Given the description of an element on the screen output the (x, y) to click on. 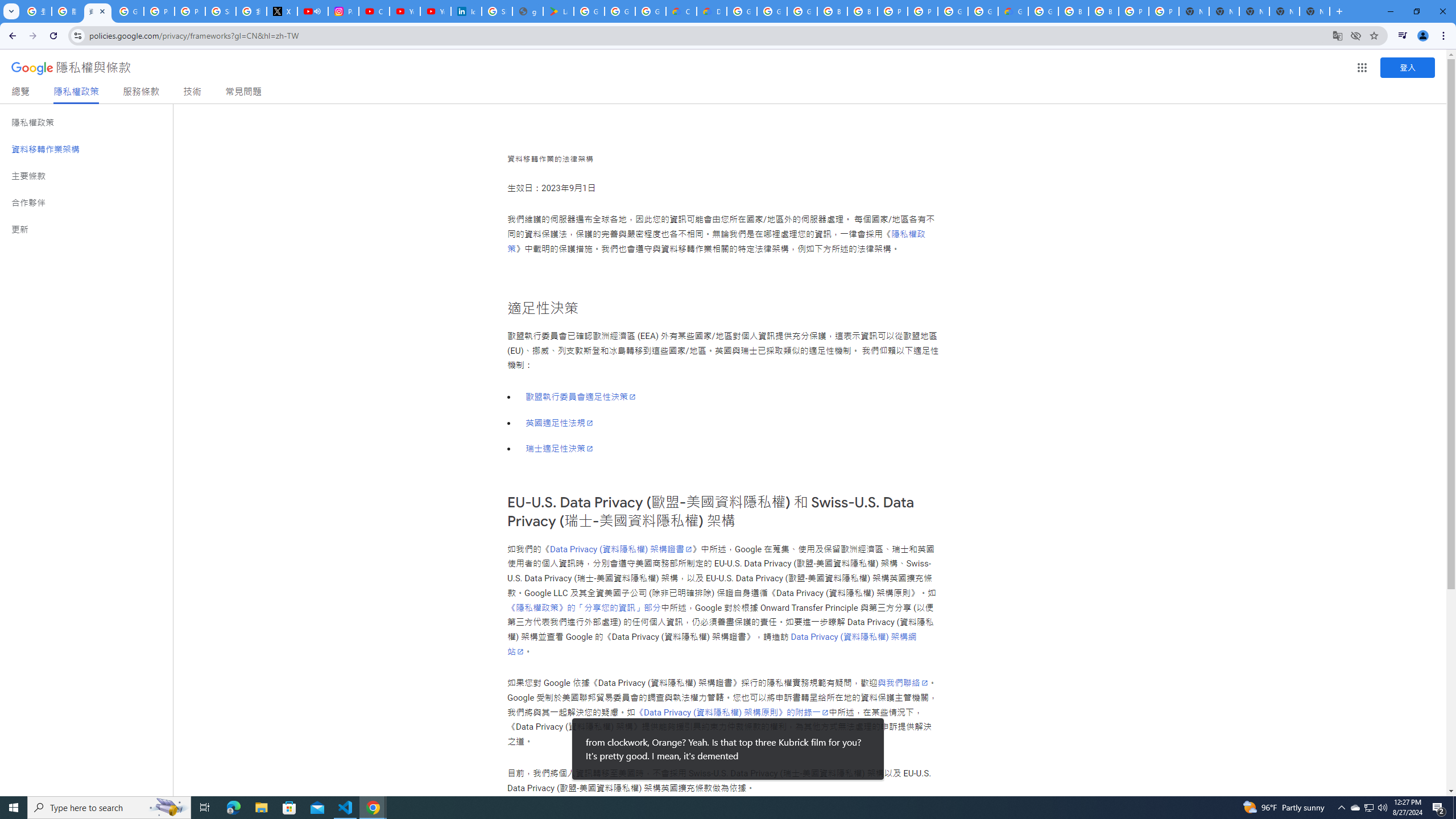
YouTube Culture & Trends - YouTube Top 10, 2021 (434, 11)
Privacy Help Center - Policies Help (189, 11)
Google Cloud Estimate Summary (1012, 11)
Google Workspace - Specific Terms (619, 11)
